Given the description of an element on the screen output the (x, y) to click on. 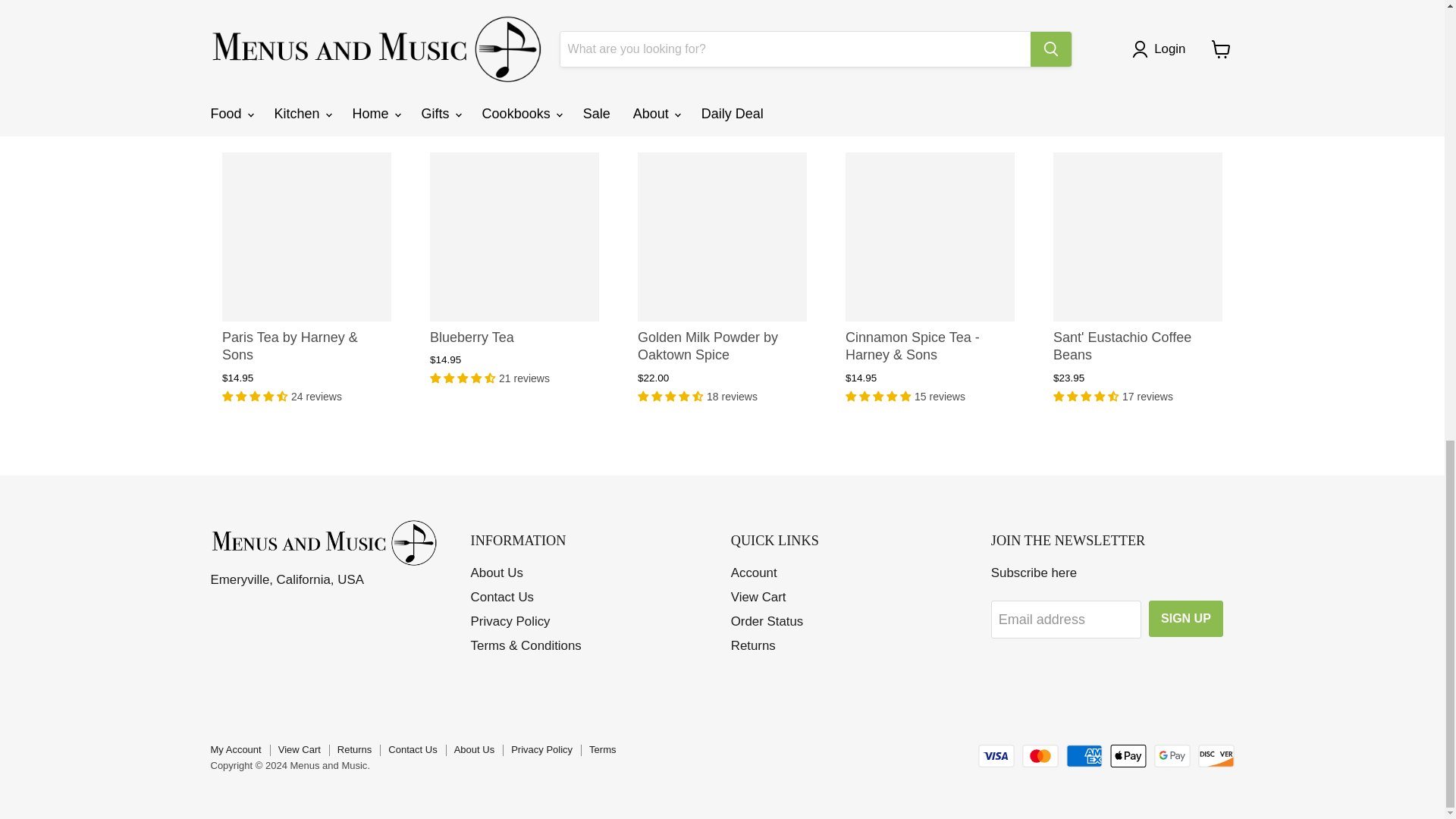
Mastercard (1040, 755)
American Express (1083, 755)
Visa (996, 755)
